Given the description of an element on the screen output the (x, y) to click on. 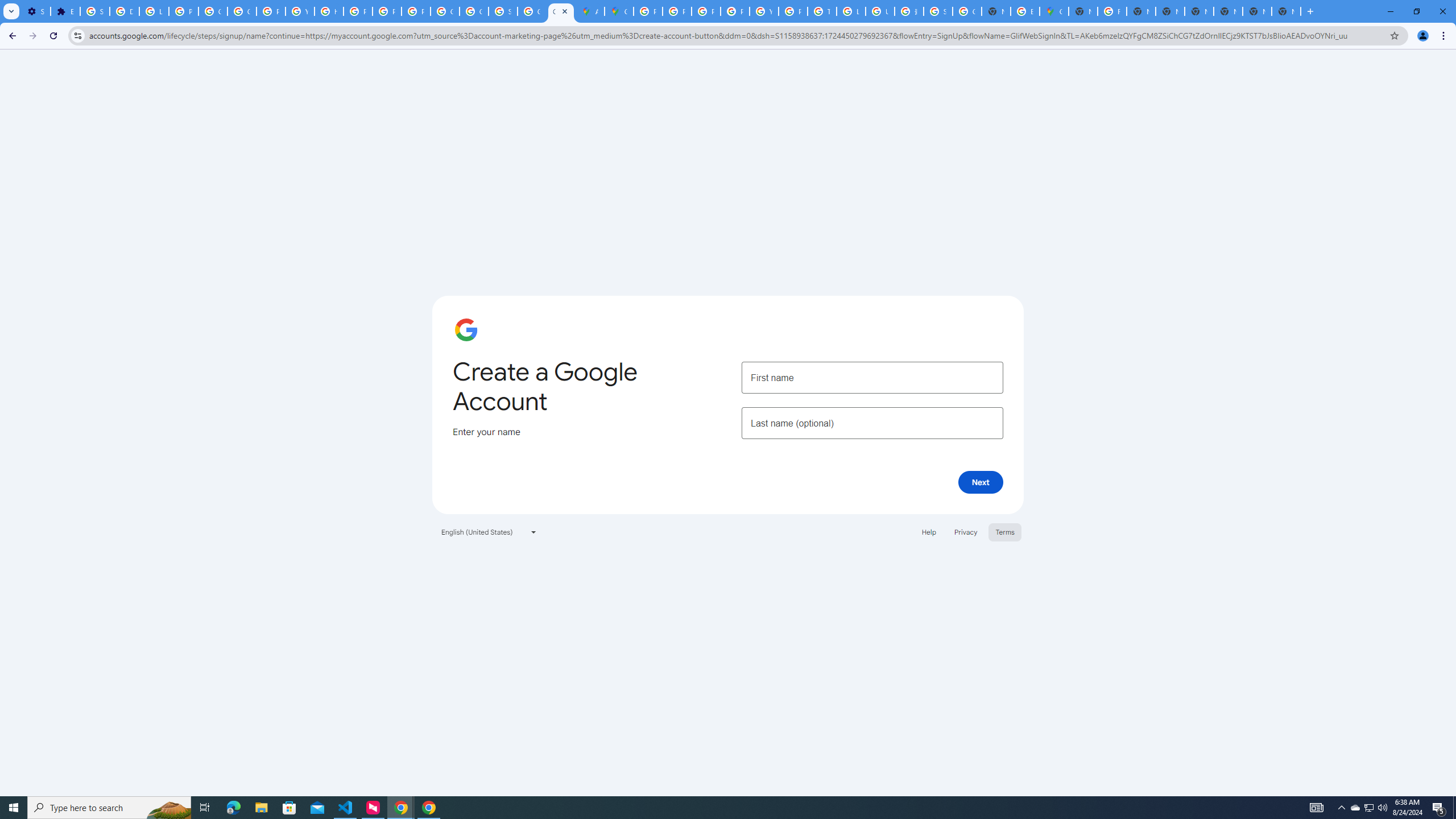
Next (980, 481)
Tips & tricks for Chrome - Google Chrome Help (821, 11)
Search tabs (10, 11)
Sign in - Google Accounts (502, 11)
Google Maps (1054, 11)
Learn how to find your photos - Google Photos Help (153, 11)
Google Maps (619, 11)
Explore new street-level details - Google Maps Help (1025, 11)
YouTube (300, 11)
Sign in - Google Accounts (95, 11)
